Given the description of an element on the screen output the (x, y) to click on. 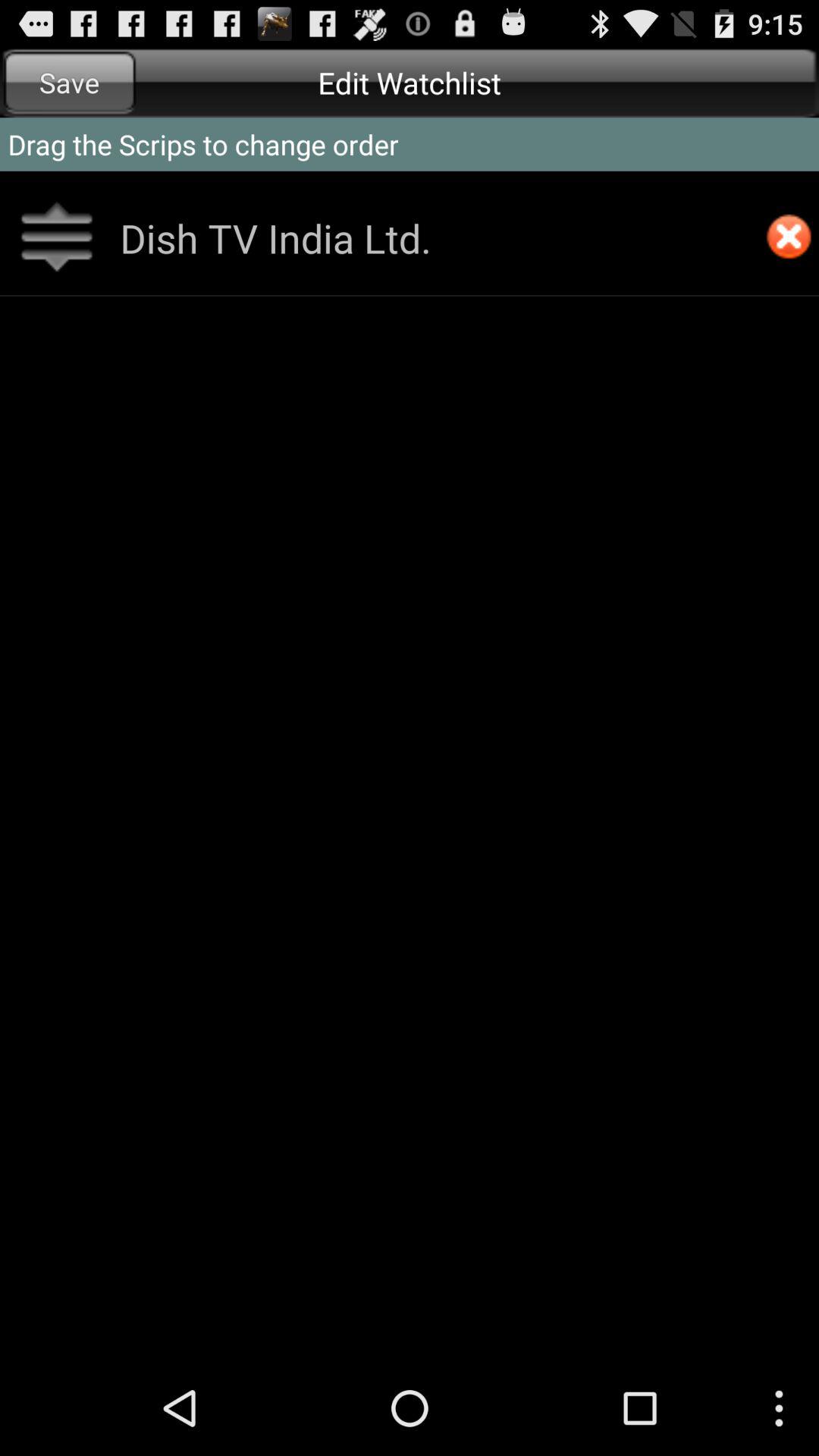
click the icon at the top right corner (788, 238)
